Given the description of an element on the screen output the (x, y) to click on. 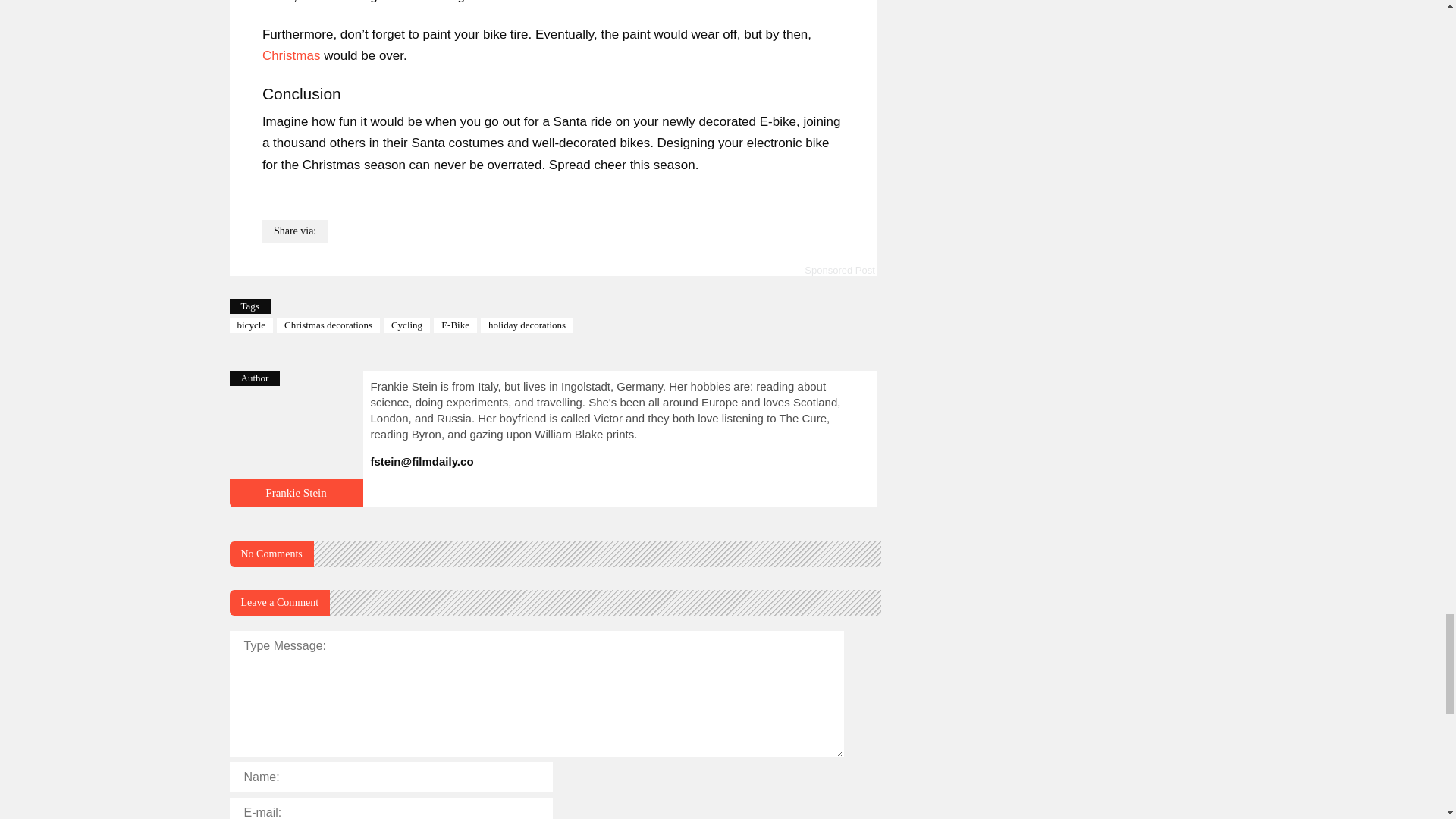
How to Decorate Your E-bike For Christmas (295, 500)
How to Decorate Your E-bike For Christmas (295, 492)
